Given the description of an element on the screen output the (x, y) to click on. 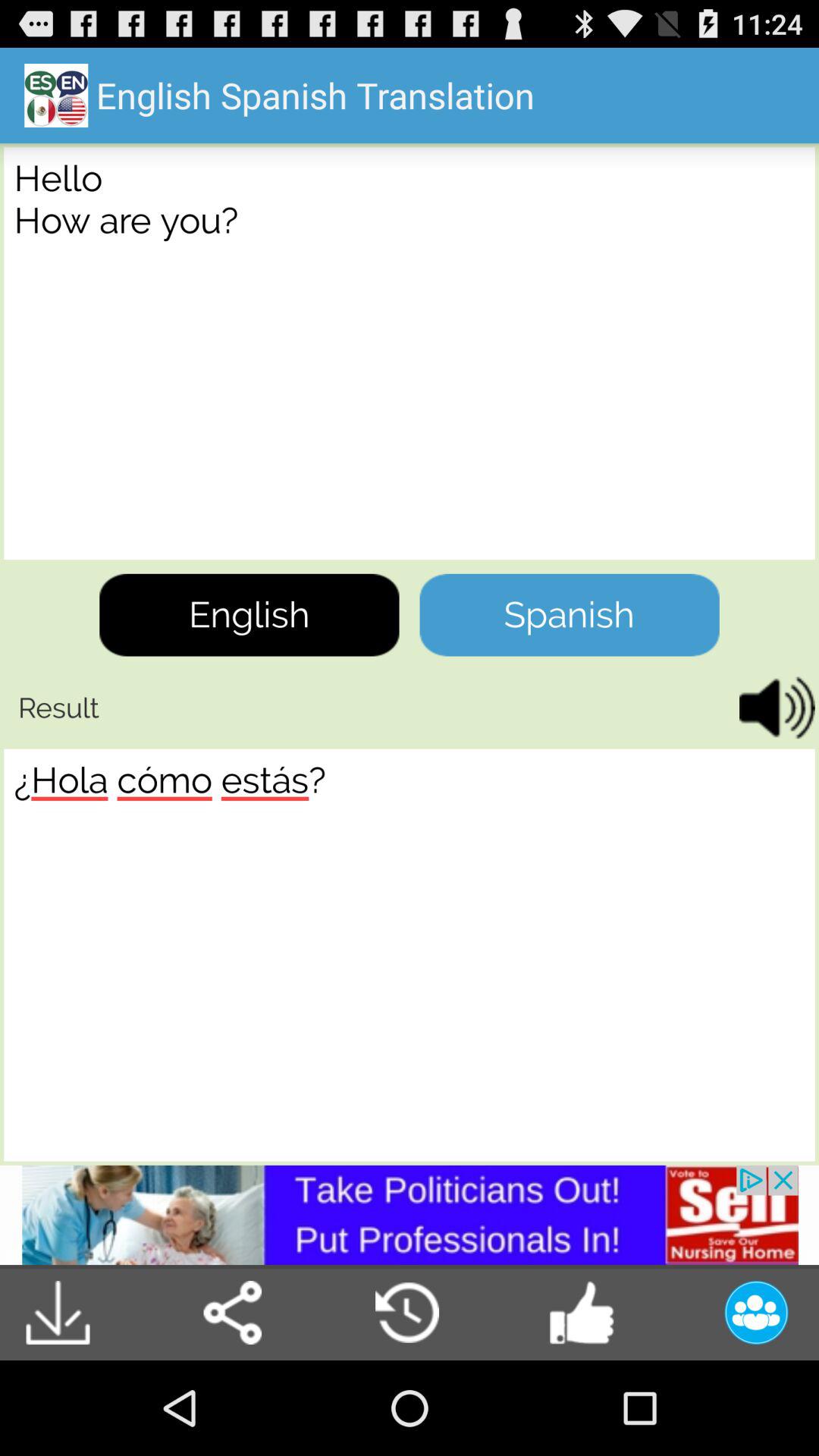
click on the like option in the bottom (582, 1312)
click on the volume option below spanish (771, 707)
click on the profile option on the bottom right corner (744, 1312)
tap on english (249, 614)
select the text in the white box which is just below the english spanishtranslation (409, 353)
click on the spanish button (569, 614)
